Given the description of an element on the screen output the (x, y) to click on. 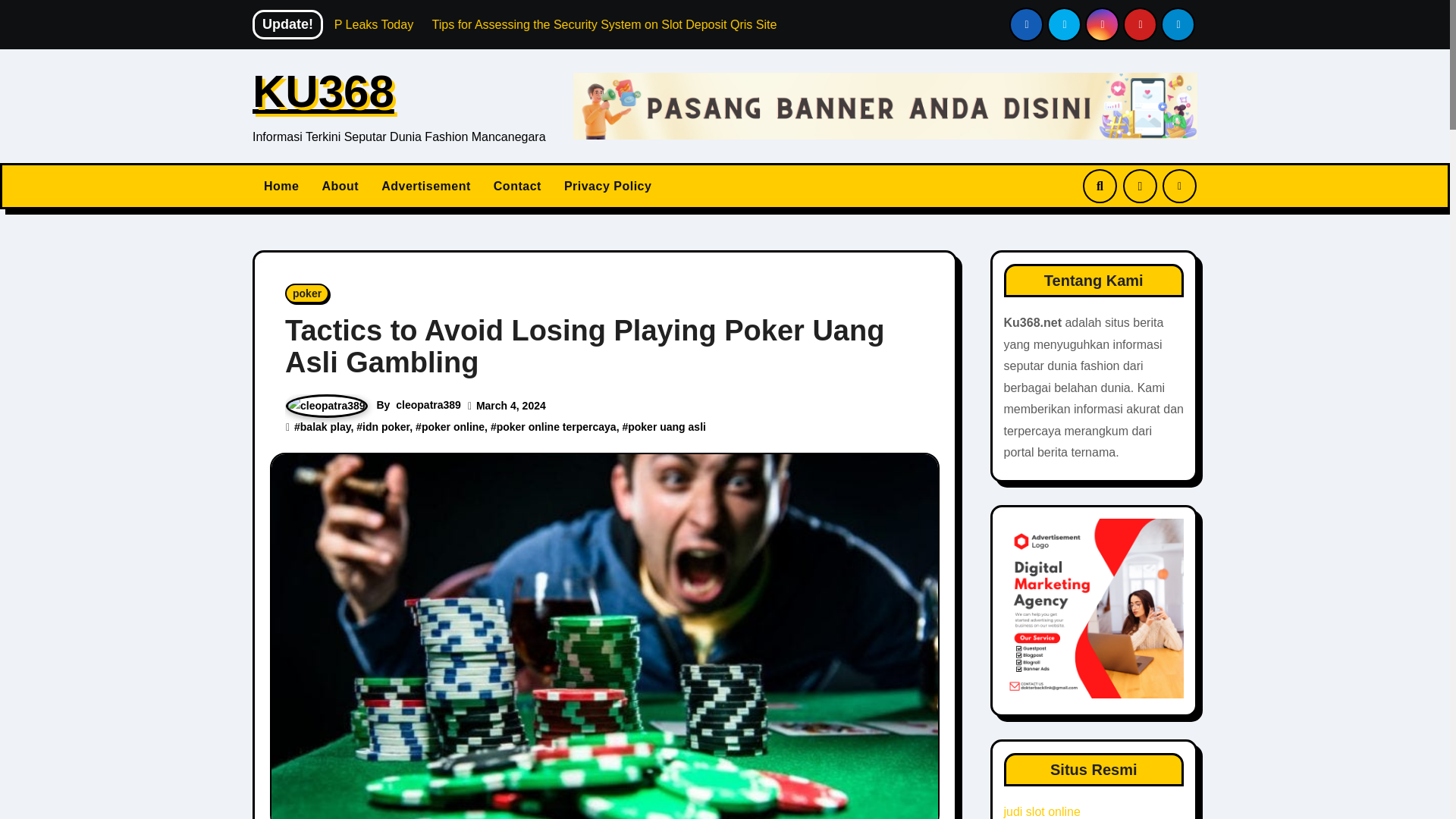
balak play (324, 426)
Contact (517, 186)
The Most Accurate Live Slot Demo Spaceman RTP Leaks Today (429, 24)
poker (307, 293)
Home (280, 186)
poker online (453, 426)
poker uang asli (666, 426)
cleopatra389 (428, 404)
Tactics to Avoid Losing Playing Poker Uang Asli Gambling (584, 346)
